Given the description of an element on the screen output the (x, y) to click on. 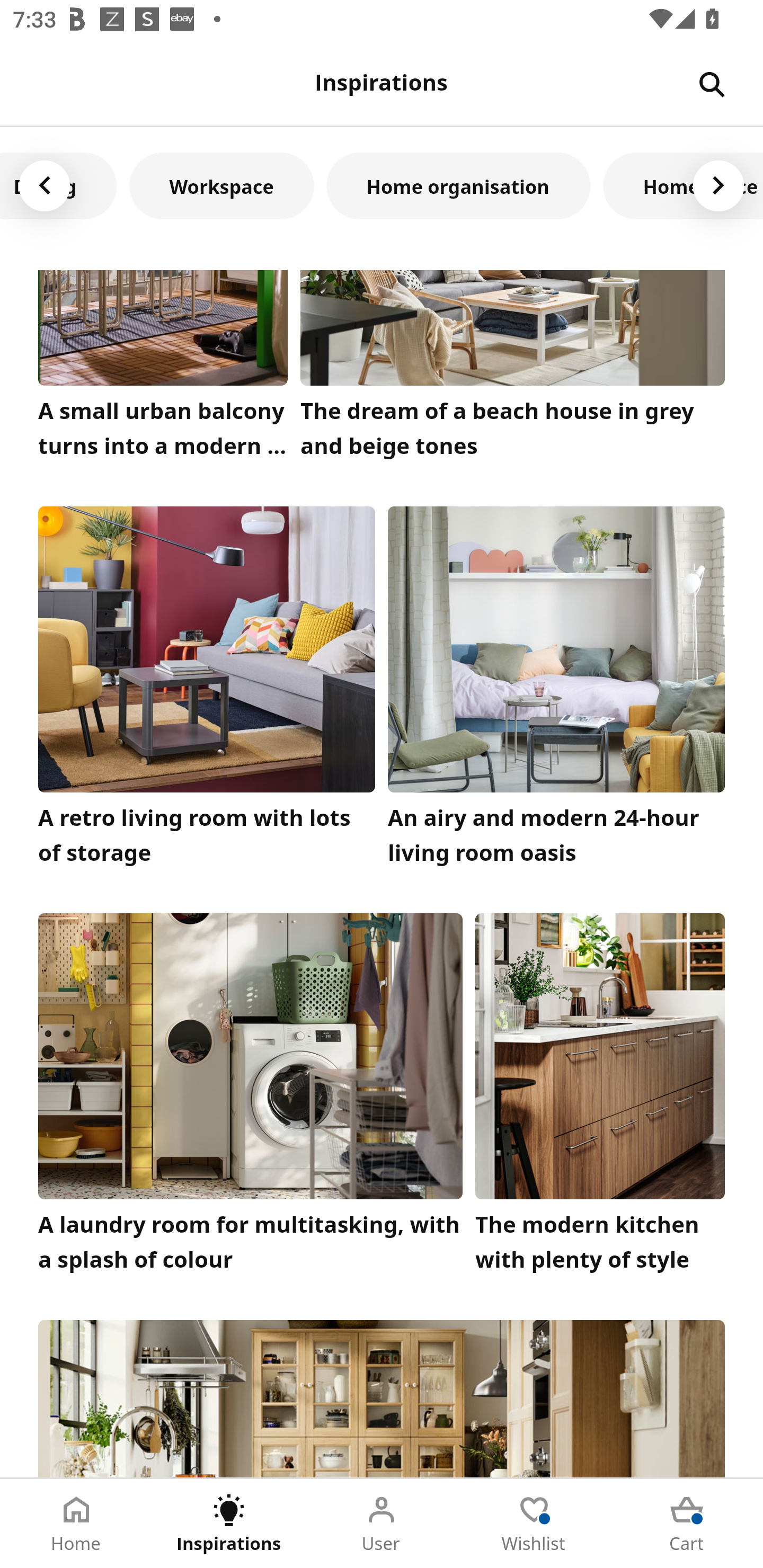
Workspace (221, 185)
Home organisation (458, 185)
The dream of a beach house in grey and beige tones (512, 368)
A retro living room with lots of storage (206, 690)
An airy and modern 24-hour living room oasis (555, 690)
The modern kitchen with plenty of style (599, 1097)
Home
Tab 1 of 5 (76, 1522)
Inspirations
Tab 2 of 5 (228, 1522)
User
Tab 3 of 5 (381, 1522)
Wishlist
Tab 4 of 5 (533, 1522)
Cart
Tab 5 of 5 (686, 1522)
